Given the description of an element on the screen output the (x, y) to click on. 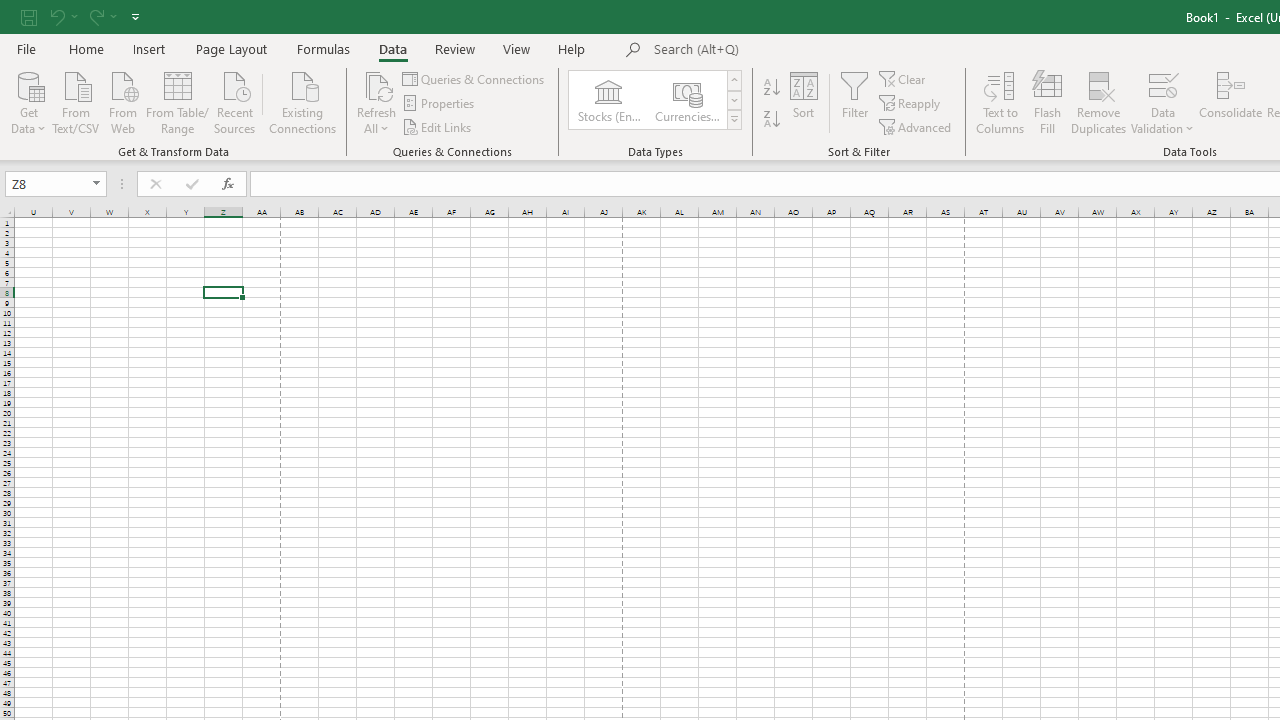
Reapply (911, 103)
Existing Connections (303, 101)
Edit Links (438, 126)
Properties (440, 103)
Sort A to Z (772, 87)
From Web (122, 101)
Sort... (804, 102)
